Given the description of an element on the screen output the (x, y) to click on. 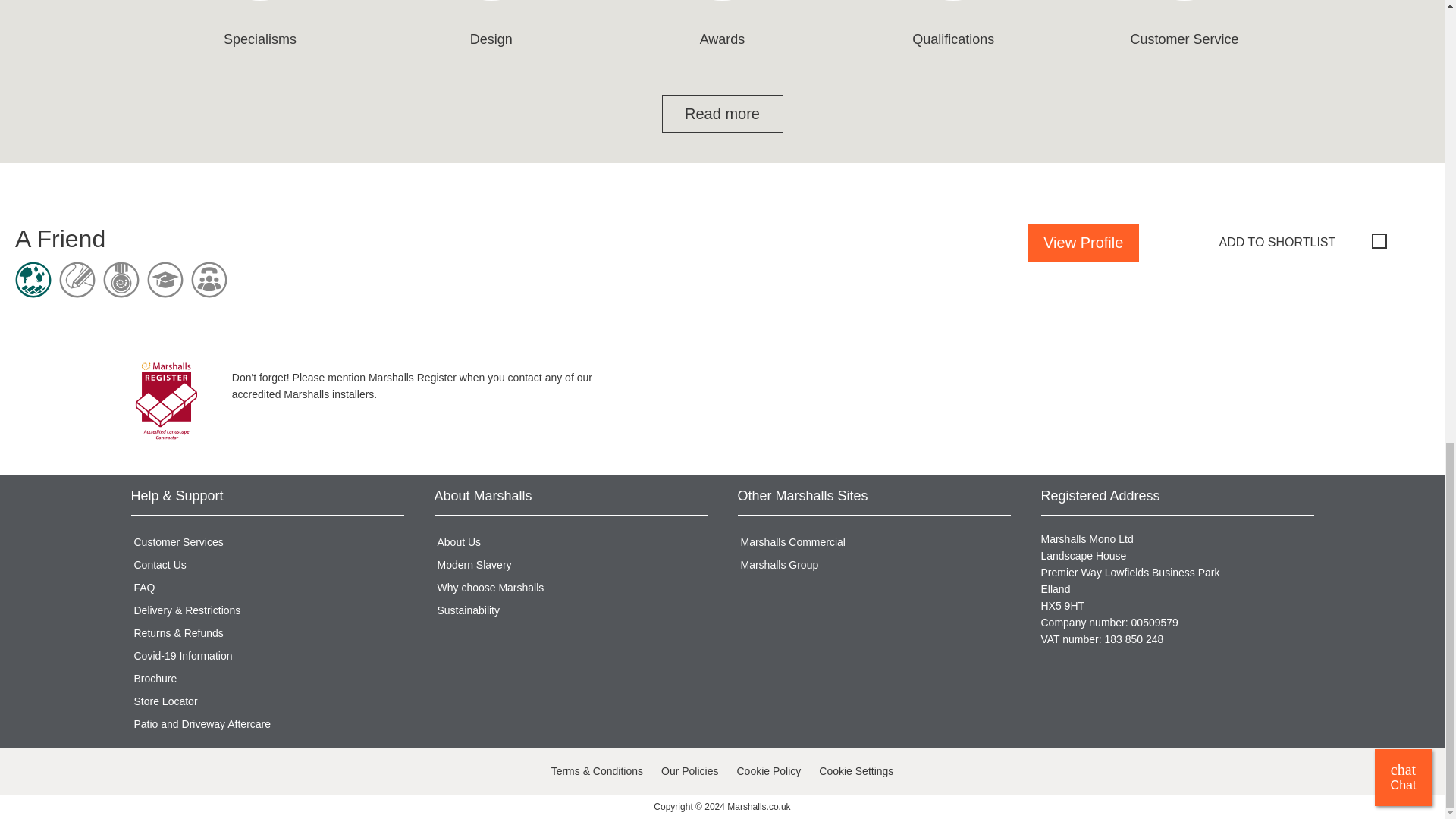
Mastercard (272, 772)
Visa (144, 772)
PayPal (240, 772)
Visa Electron (208, 772)
Maestro (304, 772)
Visa Debit (176, 772)
